Given the description of an element on the screen output the (x, y) to click on. 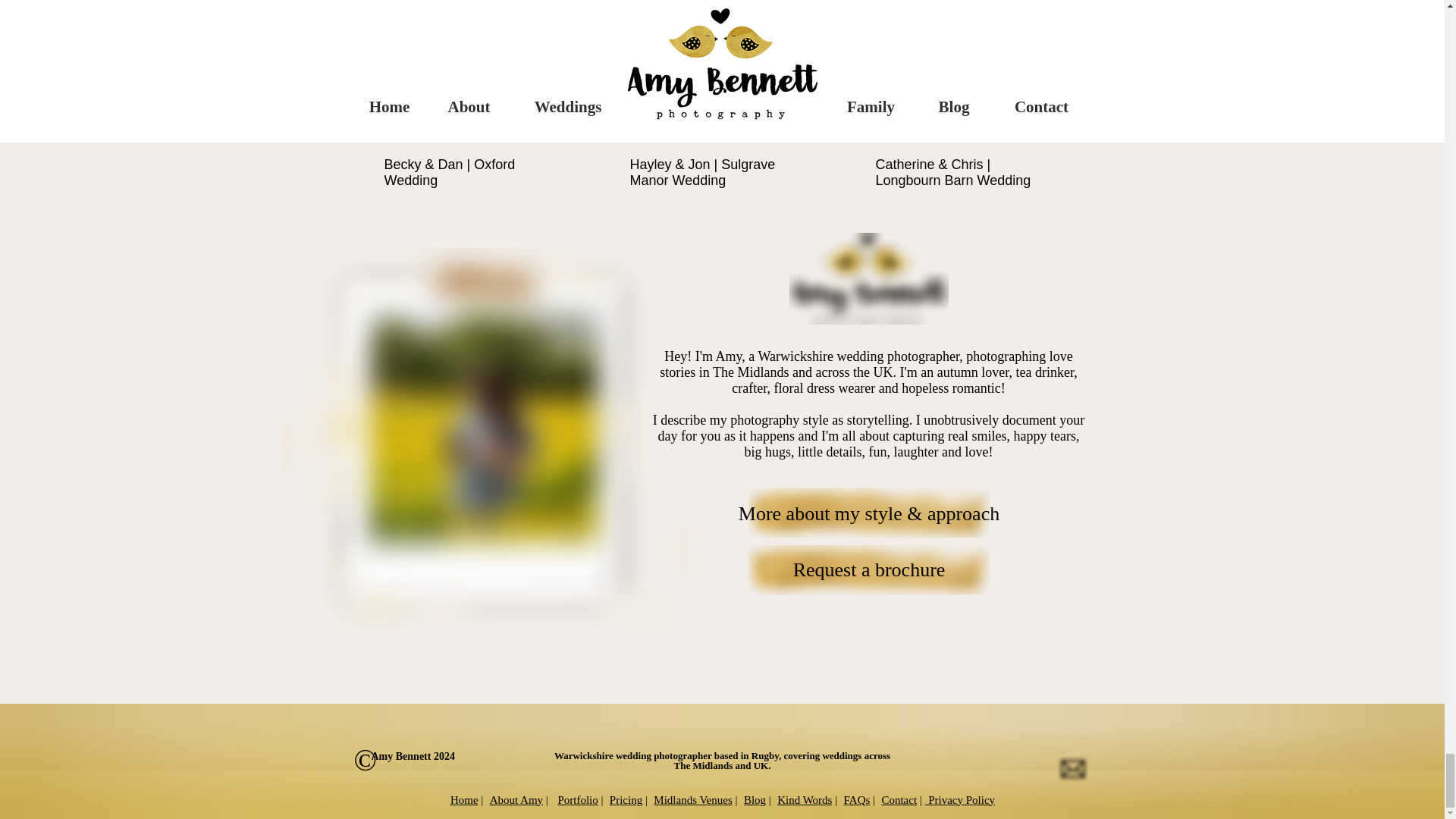
Home (464, 799)
email (1072, 768)
Portfolio (576, 799)
About Amy (516, 799)
Request a brochure (868, 569)
